Given the description of an element on the screen output the (x, y) to click on. 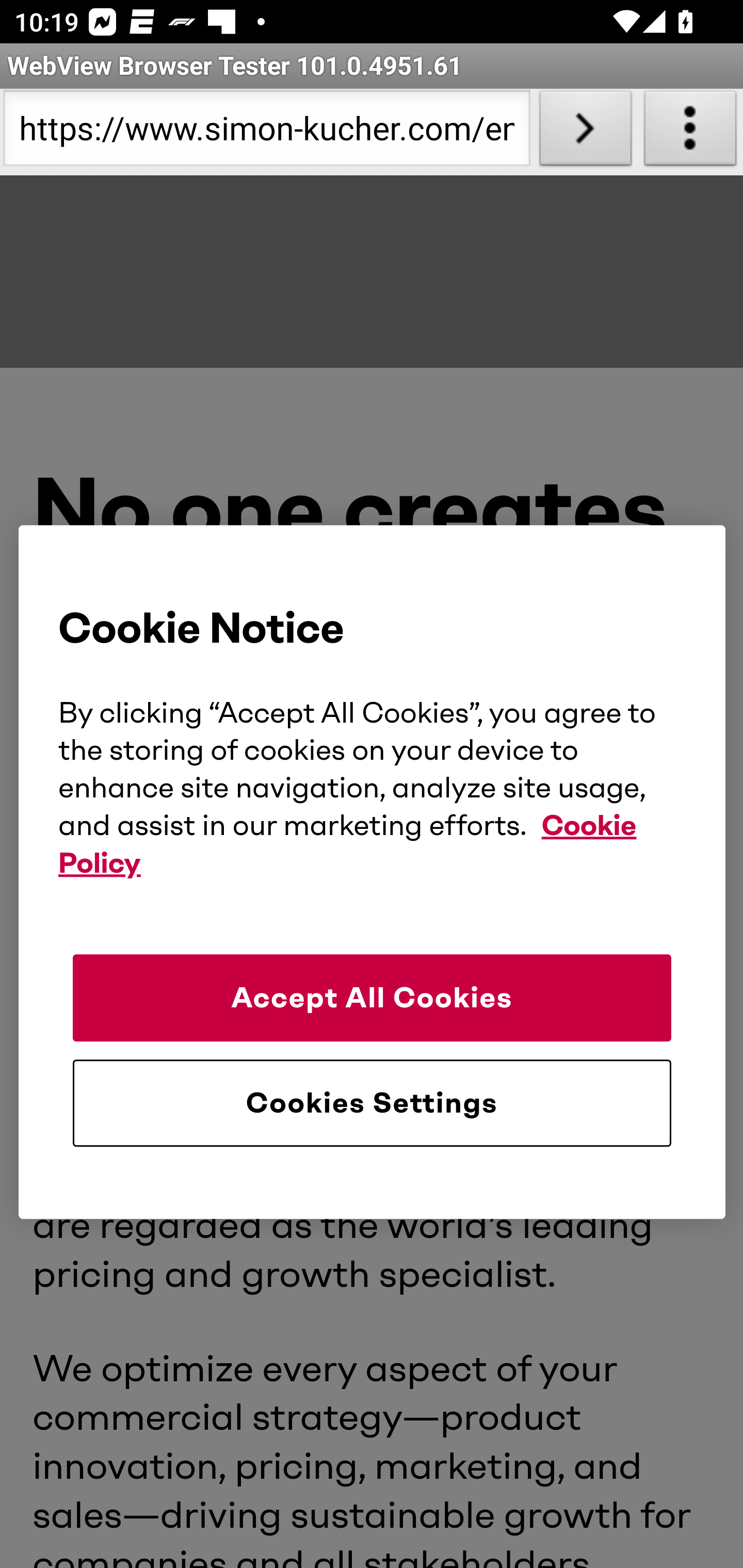
Load URL (585, 132)
About WebView (690, 132)
Accept All Cookies (371, 997)
Cookies Settings (371, 1103)
